Given the description of an element on the screen output the (x, y) to click on. 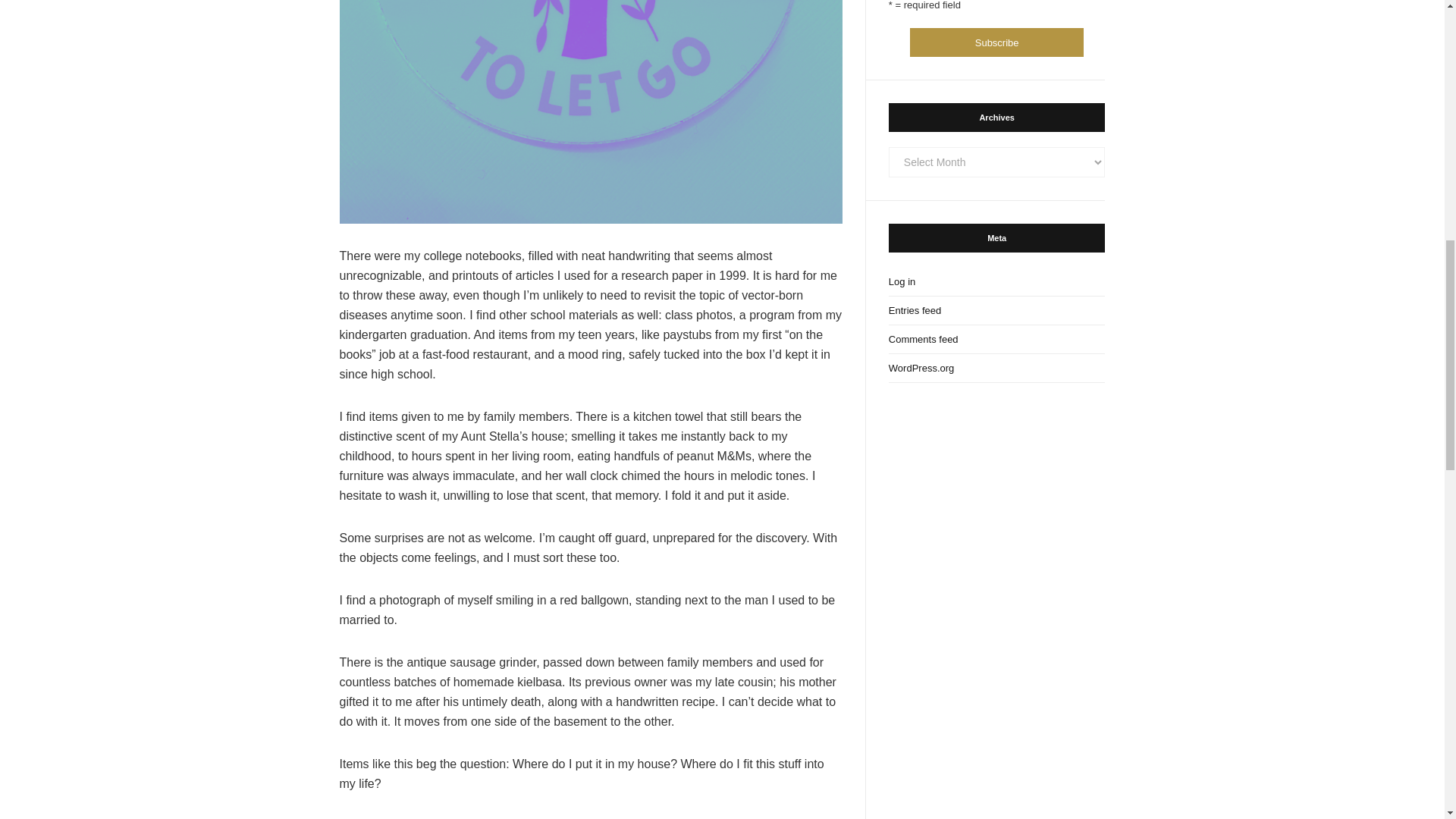
Subscribe (996, 41)
Log in (996, 281)
Subscribe (996, 41)
